Given the description of an element on the screen output the (x, y) to click on. 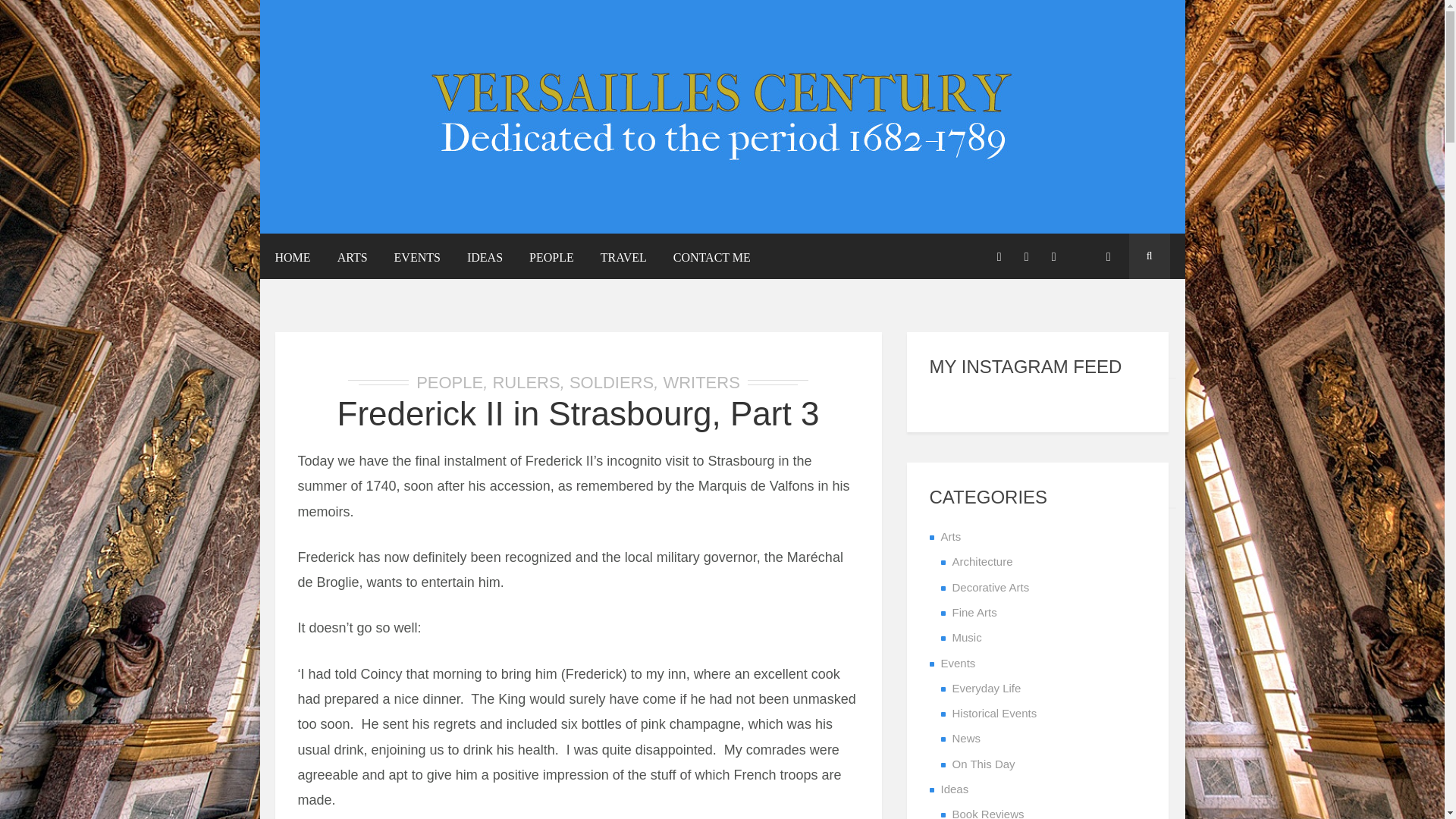
EVENTS (416, 259)
TRAVEL (623, 259)
ARTS (352, 259)
CONTACT ME (711, 259)
SOLDIERS (611, 382)
HOME (298, 259)
PEOPLE (449, 382)
Frederick II in Strasbourg, Part 3 (578, 413)
IDEAS (484, 259)
Permanent Link to Frederick II in Strasbourg, Part 3 (578, 413)
WRITERS (700, 382)
RULERS (525, 382)
PEOPLE (551, 259)
